Given the description of an element on the screen output the (x, y) to click on. 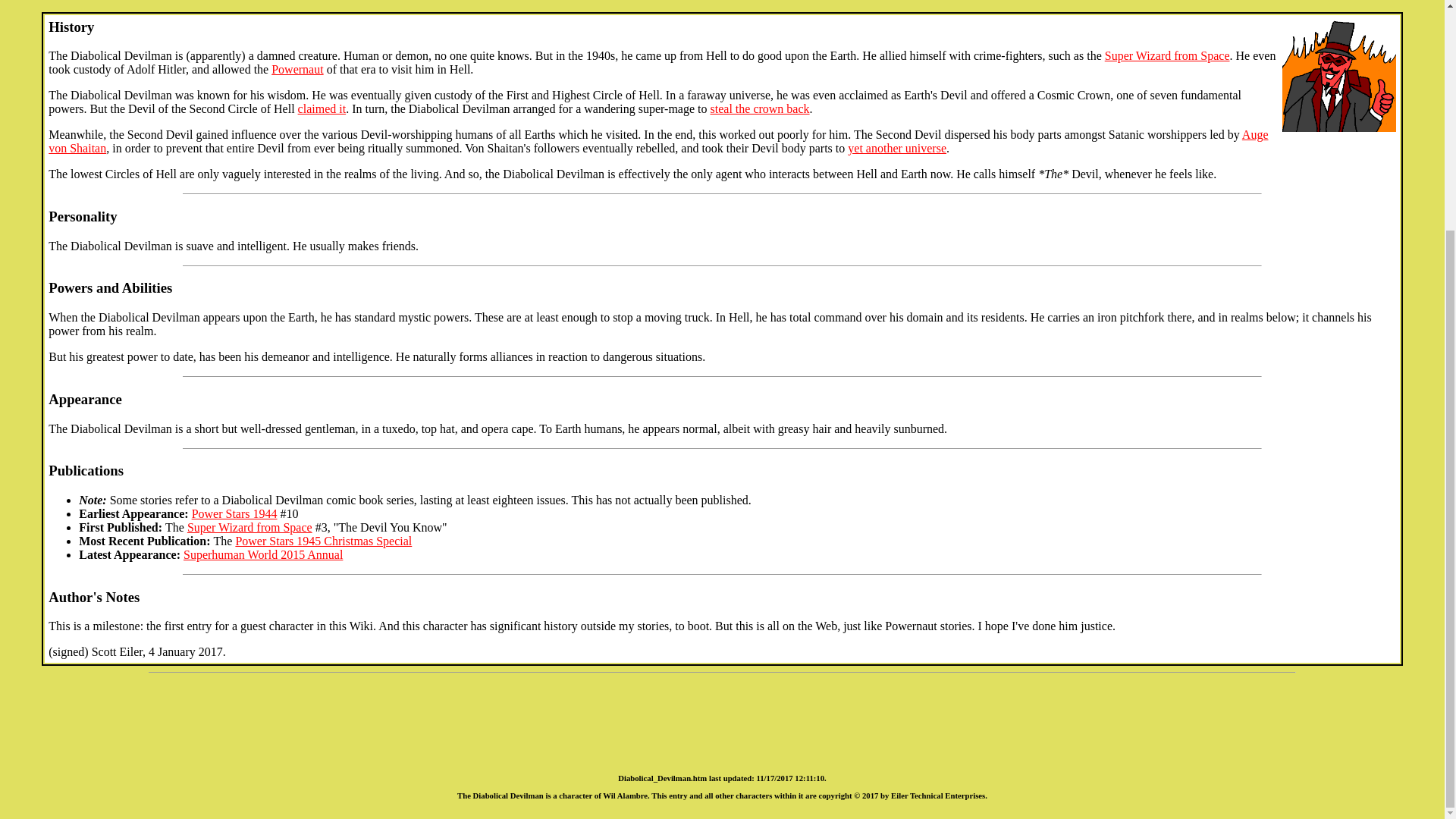
yet another universe (896, 147)
Powernaut (296, 69)
steal the crown back (759, 108)
Power Stars 1944 (235, 513)
Power Stars 1945 Christmas Special (323, 540)
Auge von Shaitan (658, 140)
Advertisement (721, 716)
Superhuman World 2015 Annual (262, 554)
claimed it (322, 108)
Super Wizard from Space (250, 526)
Super Wizard from Space (1167, 55)
